Given the description of an element on the screen output the (x, y) to click on. 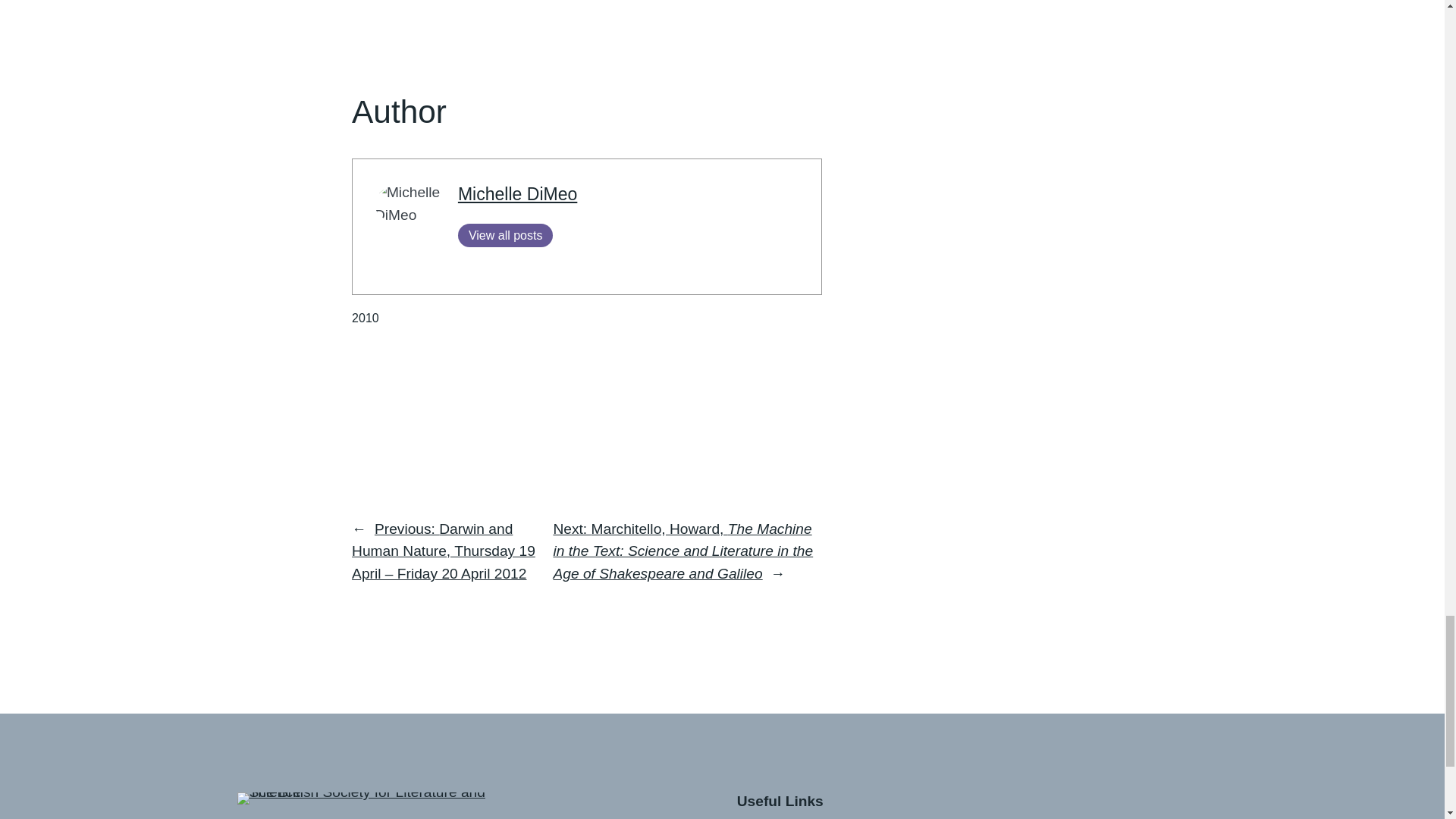
Michelle DiMeo (517, 193)
2010 (365, 318)
Michelle DiMeo (517, 193)
View all posts (505, 235)
